Given the description of an element on the screen output the (x, y) to click on. 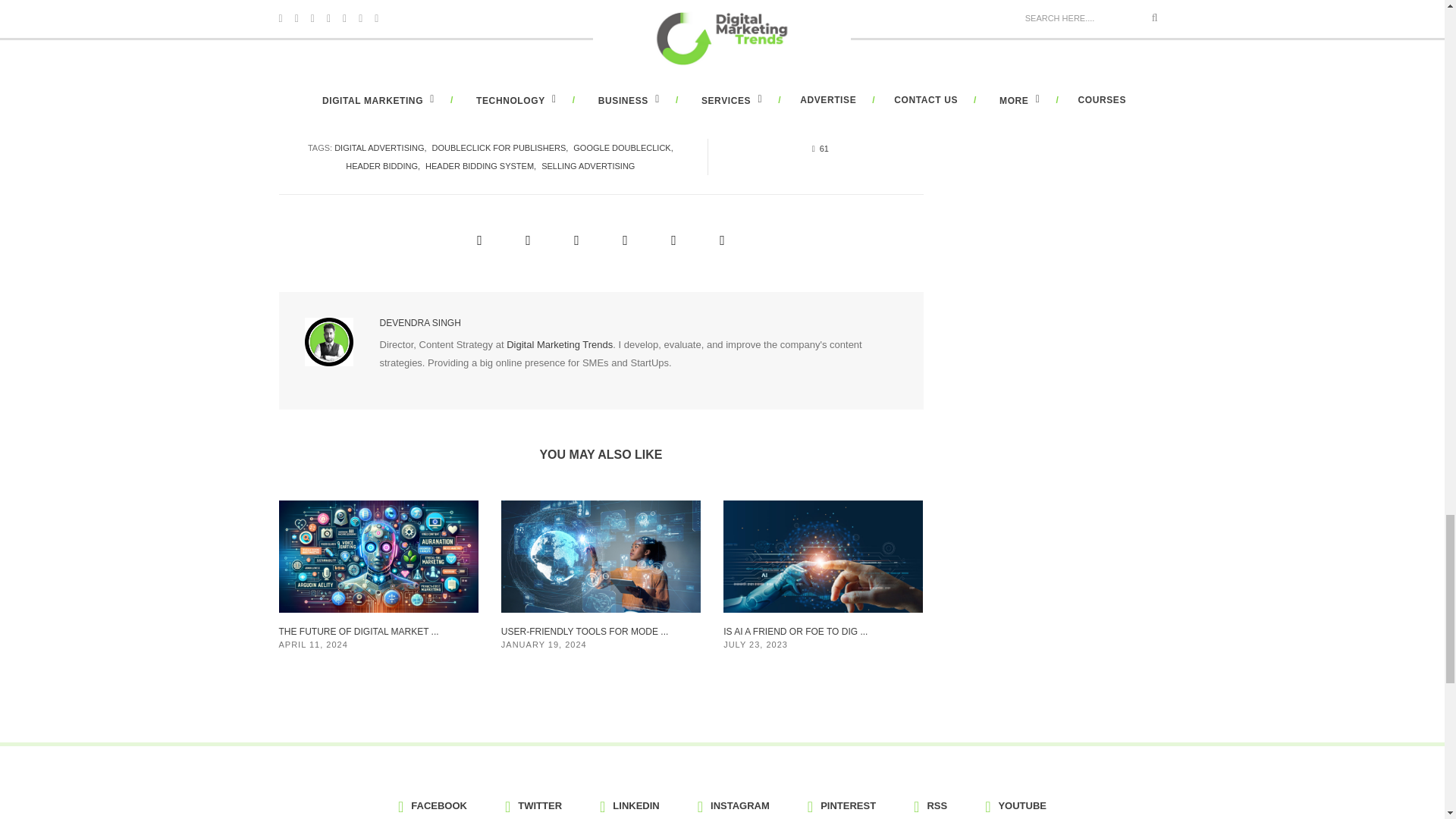
Like (815, 147)
